Given the description of an element on the screen output the (x, y) to click on. 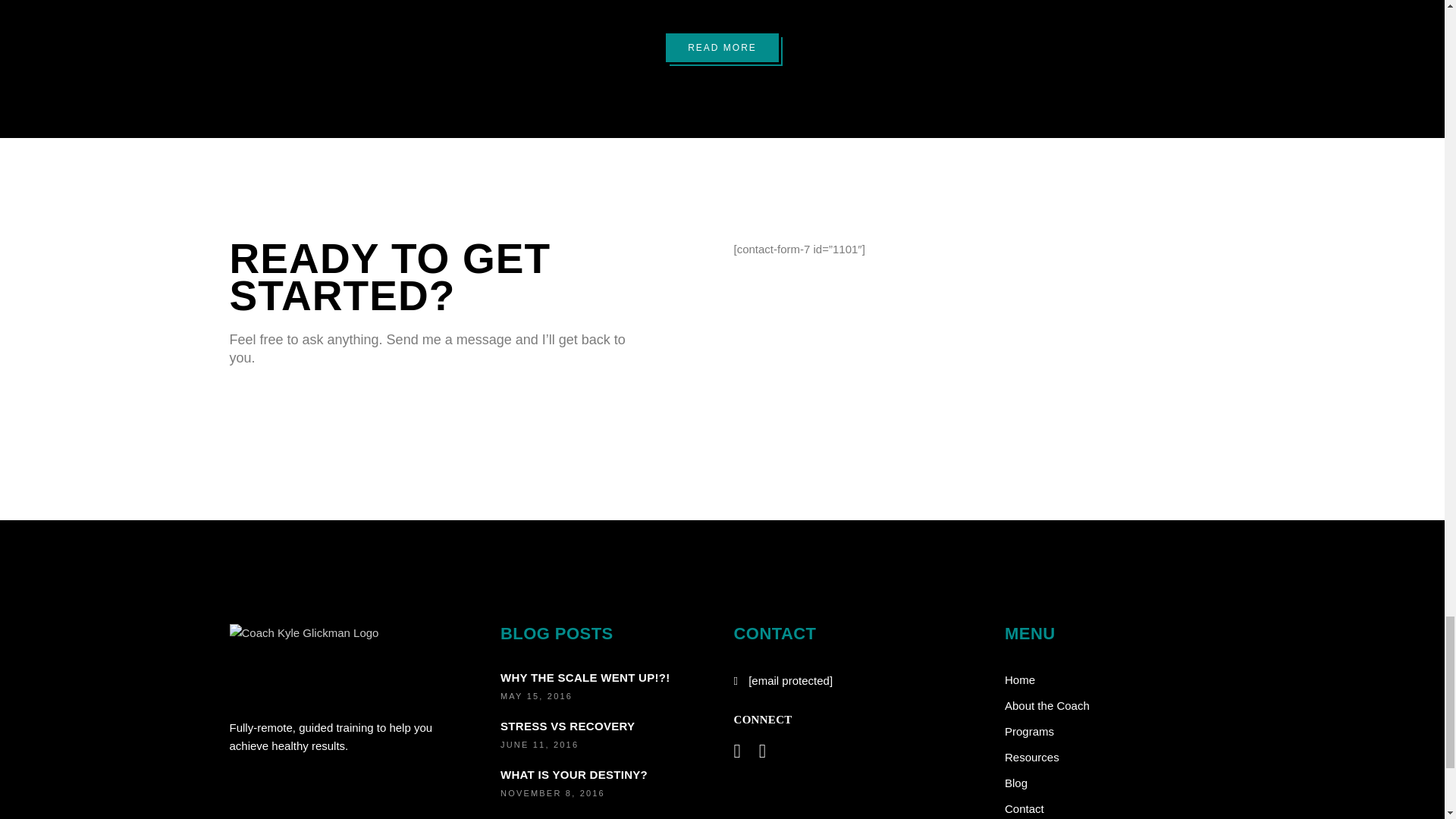
READ MORE (721, 47)
STRESS VS RECOVERY (567, 725)
Why The Scale Went Up!?! (584, 676)
Stress vs Recovery (567, 725)
WHY THE SCALE WENT UP!?! (584, 676)
MAY 15, 2016 (536, 696)
What is your Destiny? (573, 774)
